Given the description of an element on the screen output the (x, y) to click on. 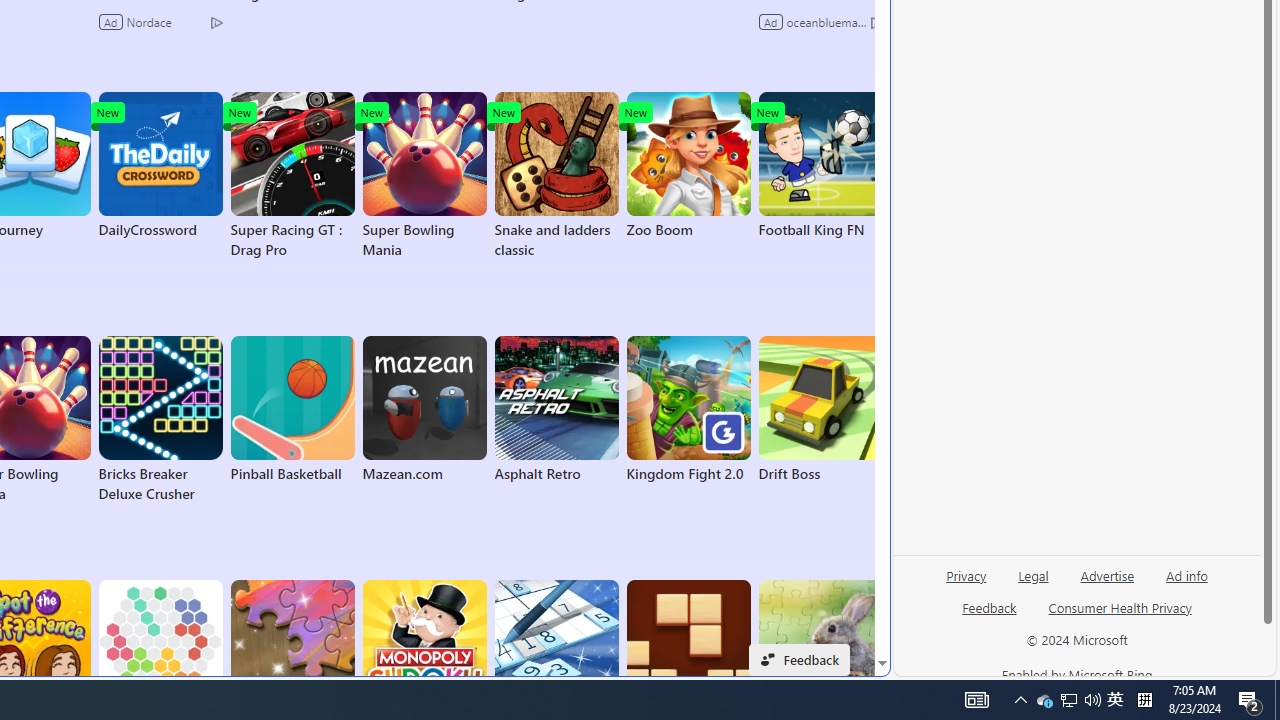
Mazean.com (424, 409)
Pinball Basketball (292, 409)
DailyCrossword (160, 165)
Drift Boss (820, 409)
Snake and ladders classic (556, 175)
Bricks Breaker Deluxe Crusher (160, 419)
Kingdom Fight 2.0 (688, 409)
